Given the description of an element on the screen output the (x, y) to click on. 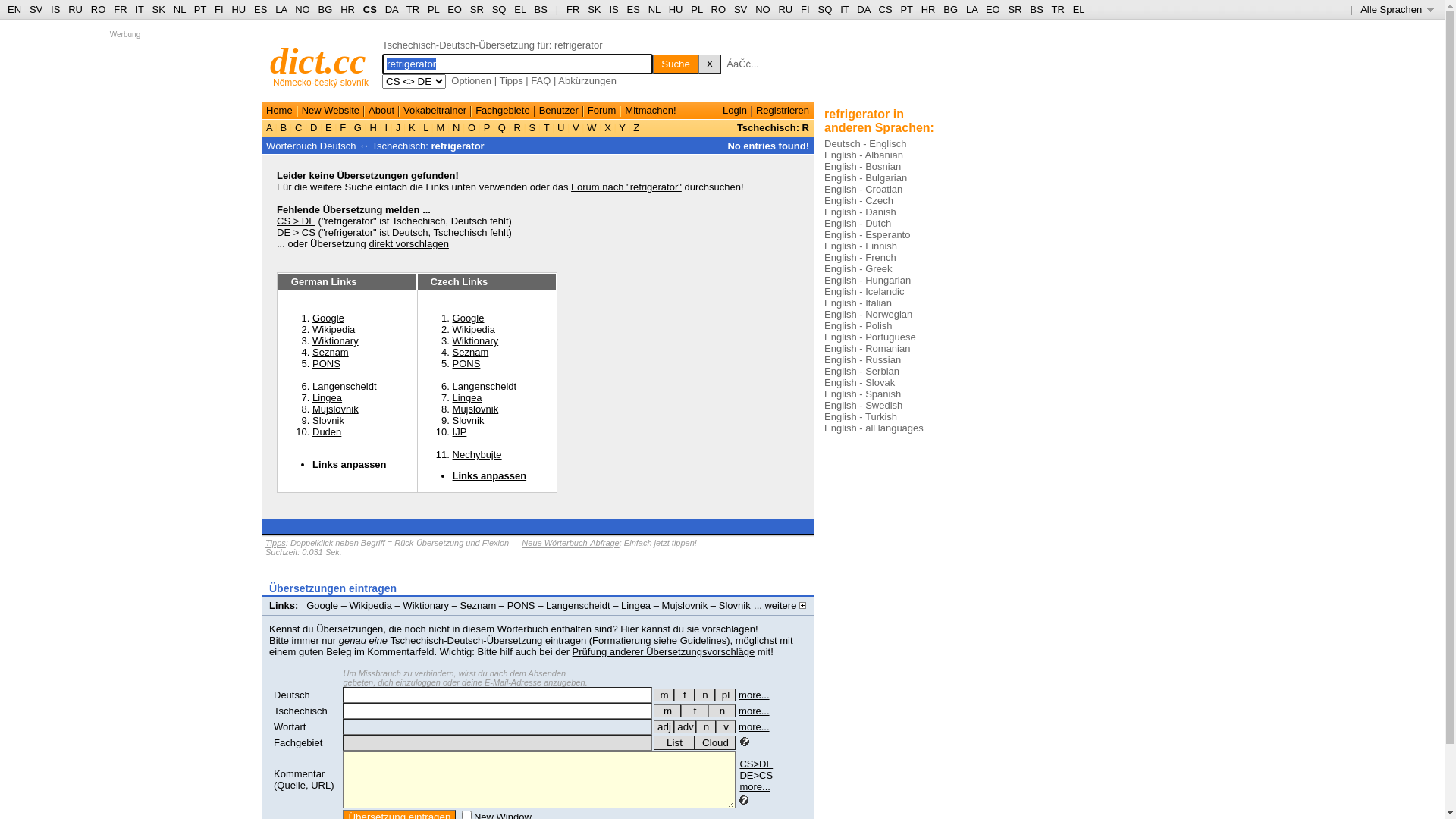
Cloud Element type: text (714, 742)
R Element type: text (517, 127)
Duden Element type: text (326, 431)
m Element type: text (663, 694)
X Element type: text (608, 127)
ES Element type: text (260, 9)
About Element type: text (381, 110)
FR Element type: text (572, 9)
V Element type: text (575, 127)
Lingea Element type: text (467, 397)
Forum nach "refrigerator" Element type: text (626, 186)
English - all languages Element type: text (873, 427)
EN Element type: text (14, 9)
Lingea Element type: text (327, 397)
English - Romanian Element type: text (867, 348)
SR Element type: text (1015, 9)
CS Element type: text (369, 9)
C Element type: text (297, 127)
v Element type: text (725, 726)
English - Finnish Element type: text (860, 245)
Fachgebiete Element type: text (502, 110)
DA Element type: text (862, 9)
Deutsch Element type: text (291, 694)
T Element type: text (546, 127)
F Element type: text (342, 127)
E Element type: text (328, 127)
N Element type: text (455, 127)
English - Esperanto Element type: text (867, 234)
BS Element type: text (1035, 9)
f Element type: text (684, 694)
Slovnik Element type: text (734, 605)
Wikipedia Element type: text (370, 605)
n Element type: text (705, 726)
Langenscheidt Element type: text (344, 386)
CS Element type: text (884, 9)
RU Element type: text (75, 9)
BG Element type: text (325, 9)
J Element type: text (397, 127)
more... Element type: text (754, 786)
Tipps Element type: text (510, 80)
refrigerator Element type: text (457, 145)
EO Element type: text (454, 9)
English - Russian Element type: text (862, 359)
Mujslovnik Element type: text (475, 408)
New Website Element type: text (330, 110)
Google Element type: text (328, 317)
Google Element type: text (468, 317)
Tschechisch: R Element type: text (773, 127)
English - Dutch Element type: text (857, 223)
Tipps Element type: text (275, 542)
n Element type: text (704, 694)
Guidelines Element type: text (703, 640)
ES Element type: text (633, 9)
EL Element type: text (1079, 9)
Slovnik Element type: text (468, 420)
FI Element type: text (218, 9)
Wiktionary Element type: text (335, 340)
English - Norwegian Element type: text (868, 314)
more... Element type: text (753, 694)
Google Element type: text (322, 605)
Nechybujte Element type: text (326, 616)
English - Slovak Element type: text (859, 382)
Benutzer Element type: text (558, 110)
English - Albanian Element type: text (863, 154)
Vokabeltrainer Element type: text (434, 110)
Seznam Element type: text (470, 351)
IJP Element type: text (459, 431)
Z Element type: text (636, 127)
BS Element type: text (540, 9)
G Element type: text (357, 127)
FR Element type: text (119, 9)
PONS Element type: text (521, 605)
Links anpassen Element type: text (396, 616)
FAQ Element type: text (540, 80)
n Element type: text (721, 710)
dict.cc Element type: text (317, 60)
English - Serbian Element type: text (861, 370)
English - Swedish Element type: text (863, 405)
LA Element type: text (971, 9)
DA Element type: text (391, 9)
Deutsch - Englisch Element type: text (865, 143)
SK Element type: text (158, 9)
Tschechisch Element type: text (300, 710)
BG Element type: text (950, 9)
H Element type: text (373, 127)
TR Element type: text (412, 9)
S Element type: text (532, 127)
m Element type: text (666, 710)
SK Element type: text (593, 9)
SQ Element type: text (824, 9)
PL Element type: text (696, 9)
SV Element type: text (740, 9)
English - Greek Element type: text (858, 268)
Login Element type: text (734, 110)
Langenscheidt Element type: text (484, 386)
PONS Element type: text (466, 363)
List Element type: text (673, 742)
Wiktionary Element type: text (475, 340)
Wikipedia Element type: text (473, 329)
RU Element type: text (785, 9)
Mitmachen! Element type: text (649, 110)
Mujslovnik Element type: text (335, 408)
Seznam Element type: text (330, 351)
EO Element type: text (992, 9)
K Element type: text (411, 127)
U Element type: text (560, 127)
Slovnik Element type: text (328, 420)
B Element type: text (283, 127)
more... Element type: text (753, 726)
HU Element type: text (238, 9)
English - Hungarian Element type: text (867, 279)
PL Element type: text (433, 9)
L Element type: text (425, 127)
Alle Sprachen  Element type: text (1397, 9)
Optionen Element type: text (471, 80)
adj Element type: text (663, 726)
English - Bulgarian Element type: text (865, 177)
PONS Element type: text (326, 363)
SV Element type: text (35, 9)
X Element type: text (709, 63)
IJP Element type: text (284, 616)
NL Element type: text (179, 9)
English - Croatian Element type: text (863, 188)
more... Element type: text (753, 710)
die - Mehrzahl (Plural) Element type: hover (725, 694)
M Element type: text (440, 127)
IS Element type: text (54, 9)
Suche Element type: text (675, 63)
... weitere Element type: text (779, 605)
die - weiblich (Femininum) Element type: hover (684, 694)
Nechybujte Element type: text (477, 454)
I Element type: text (386, 127)
English - French Element type: text (860, 257)
RO Element type: text (718, 9)
Wikipedia Element type: text (333, 329)
Lingea Element type: text (635, 605)
English - Spanish Element type: text (862, 393)
D Element type: text (313, 127)
Links anpassen Element type: text (489, 475)
English - Czech Element type: text (858, 200)
EL Element type: text (519, 9)
LA Element type: text (280, 9)
PT Element type: text (200, 9)
Langenscheidt Element type: text (578, 605)
Q Element type: text (501, 127)
HR Element type: text (928, 9)
English - Portuguese Element type: text (870, 336)
TR Element type: text (1057, 9)
adv Element type: text (685, 726)
English - Danish Element type: text (860, 211)
W Element type: text (591, 127)
NO Element type: text (302, 9)
English - Turkish Element type: text (860, 416)
FI Element type: text (804, 9)
IT Element type: text (138, 9)
Links anpassen Element type: text (349, 464)
English - Polish Element type: text (858, 325)
DE>CS Element type: text (755, 775)
RO Element type: text (98, 9)
P Element type: text (486, 127)
Home Element type: text (279, 110)
Wiktionary Element type: text (425, 605)
CS > DE Element type: text (295, 220)
pl Element type: text (725, 694)
Mujslovnik Element type: text (685, 605)
PT Element type: text (906, 9)
English - Icelandic Element type: text (864, 291)
Y Element type: text (621, 127)
DE > CS Element type: text (295, 232)
SR Element type: text (476, 9)
NO Element type: text (762, 9)
NL Element type: text (654, 9)
Forum Element type: text (601, 110)
IT Element type: text (844, 9)
Seznam Element type: text (478, 605)
SQ Element type: text (499, 9)
CS>DE Element type: text (755, 763)
HR Element type: text (347, 9)
Registrieren Element type: text (782, 110)
O Element type: text (470, 127)
A Element type: text (270, 127)
f Element type: text (694, 710)
IS Element type: text (613, 9)
English - Bosnian Element type: text (862, 166)
English - Italian Element type: text (857, 302)
direkt vorschlagen Element type: text (408, 243)
HU Element type: text (675, 9)
